Given the description of an element on the screen output the (x, y) to click on. 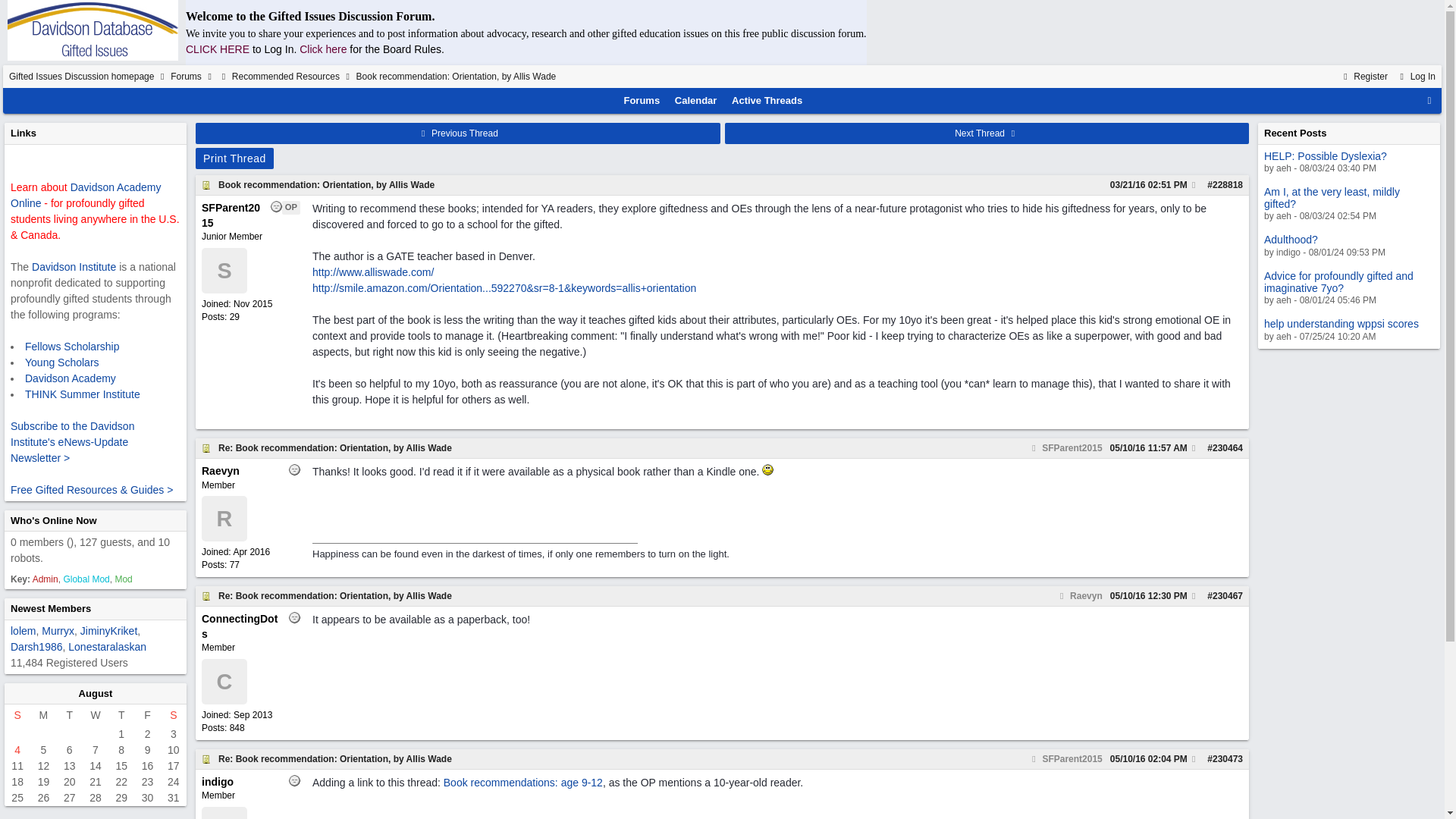
Darsh1986 (36, 645)
Forums (641, 100)
Who's Online Now (53, 519)
Fellows Scholarship (71, 345)
August (17, 749)
Young Scholars (95, 692)
to Log In. (61, 362)
Book recommendation: Orientation, by Allis Wade (275, 49)
JiminyKriket (325, 184)
Register (108, 630)
228818 (1363, 76)
Click here (1227, 184)
Lonestaralaskan (322, 49)
Davidson Academy (107, 645)
